Given the description of an element on the screen output the (x, y) to click on. 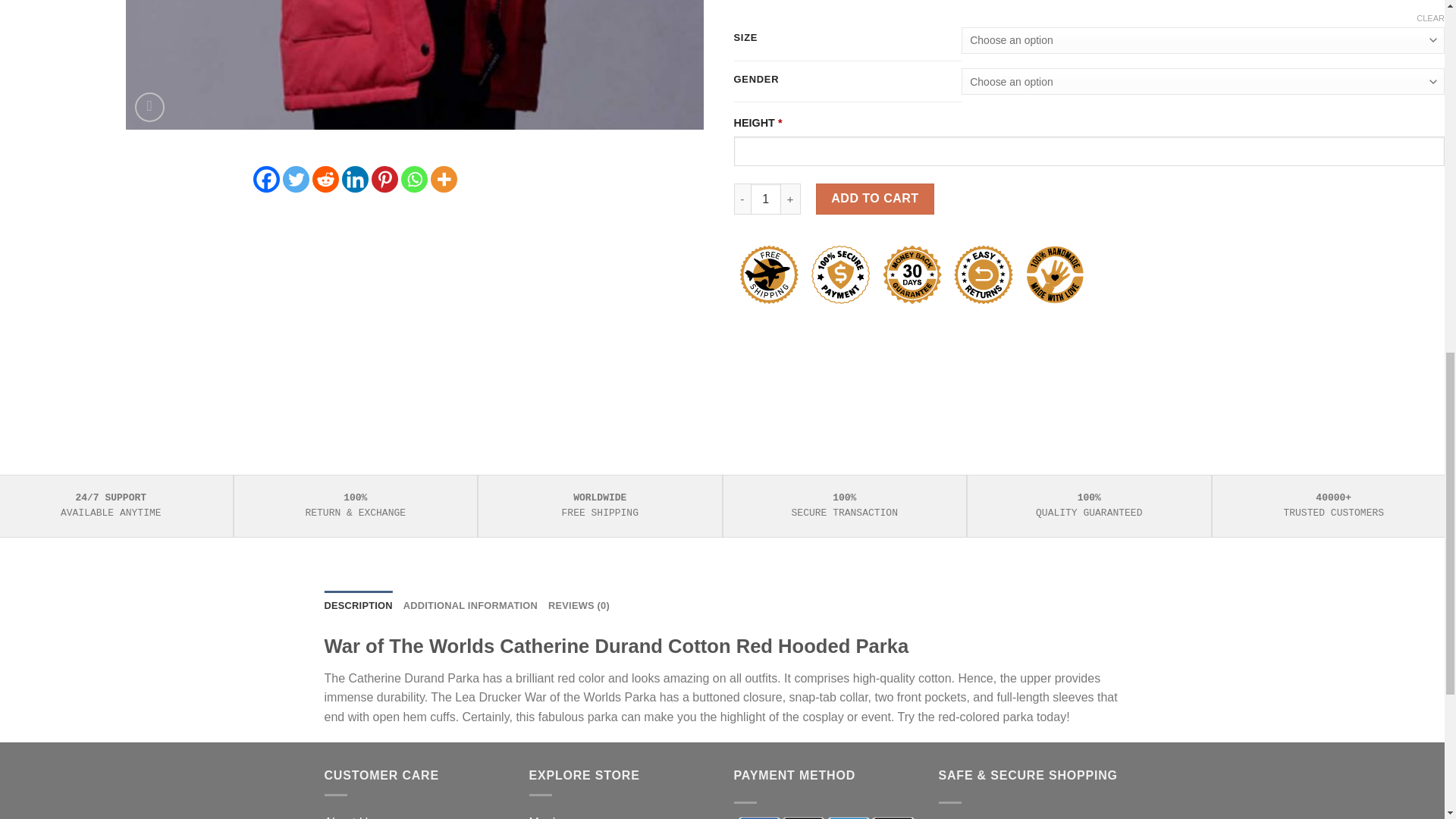
lea-drucker-war-of-the-worlds-parka (992, 64)
1 (765, 198)
catherine-durand-parka (414, 64)
Facebook (266, 179)
Zoom (149, 107)
Twitter (295, 179)
